Given the description of an element on the screen output the (x, y) to click on. 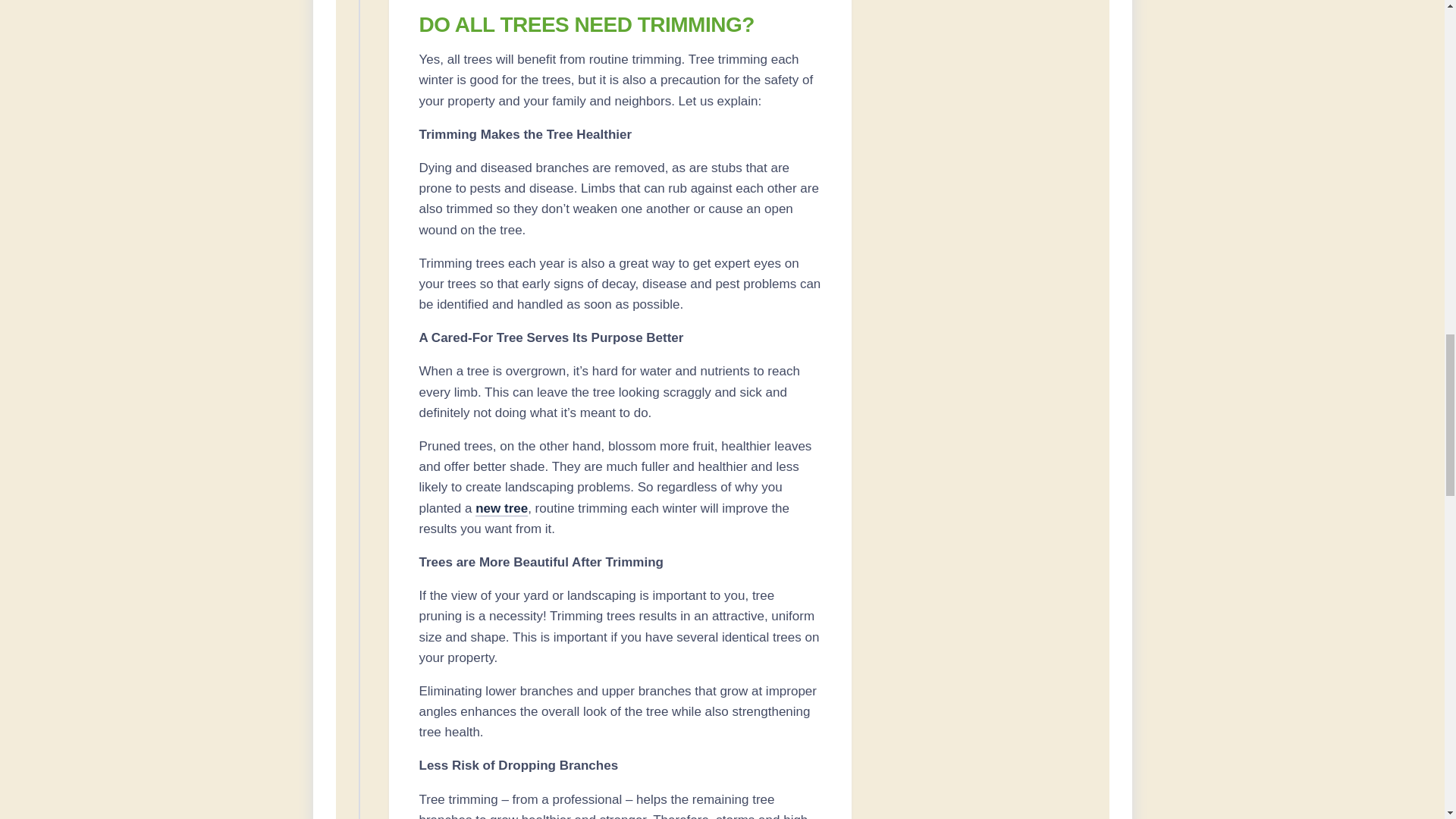
new tree (501, 508)
